Given the description of an element on the screen output the (x, y) to click on. 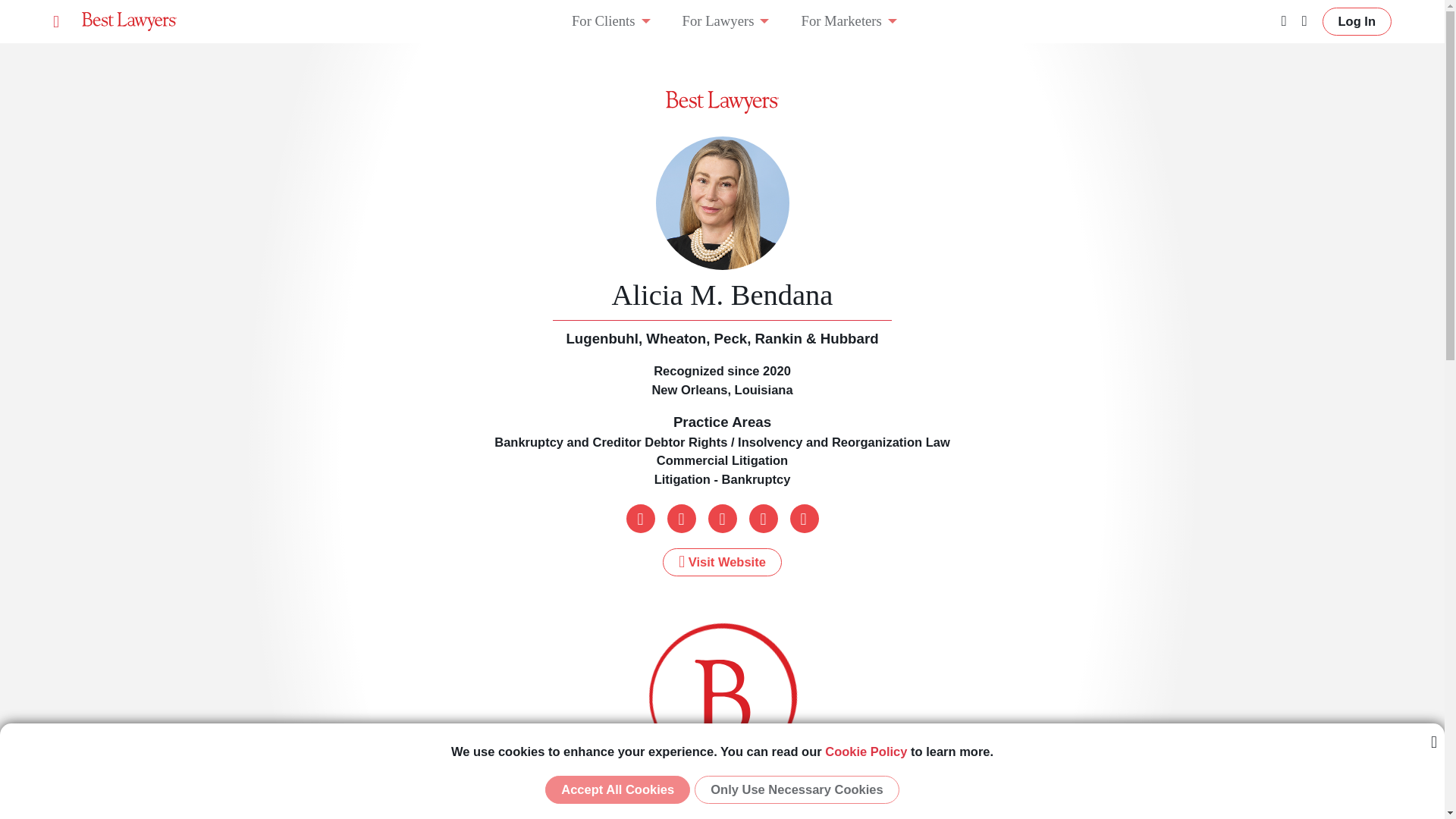
For Lawyers (717, 20)
Log In (1356, 21)
For Clients (603, 20)
Alicia M. Bendana (721, 295)
Alicia M. Bendana (721, 295)
Log In (1356, 21)
For Marketers (840, 20)
